Given the description of an element on the screen output the (x, y) to click on. 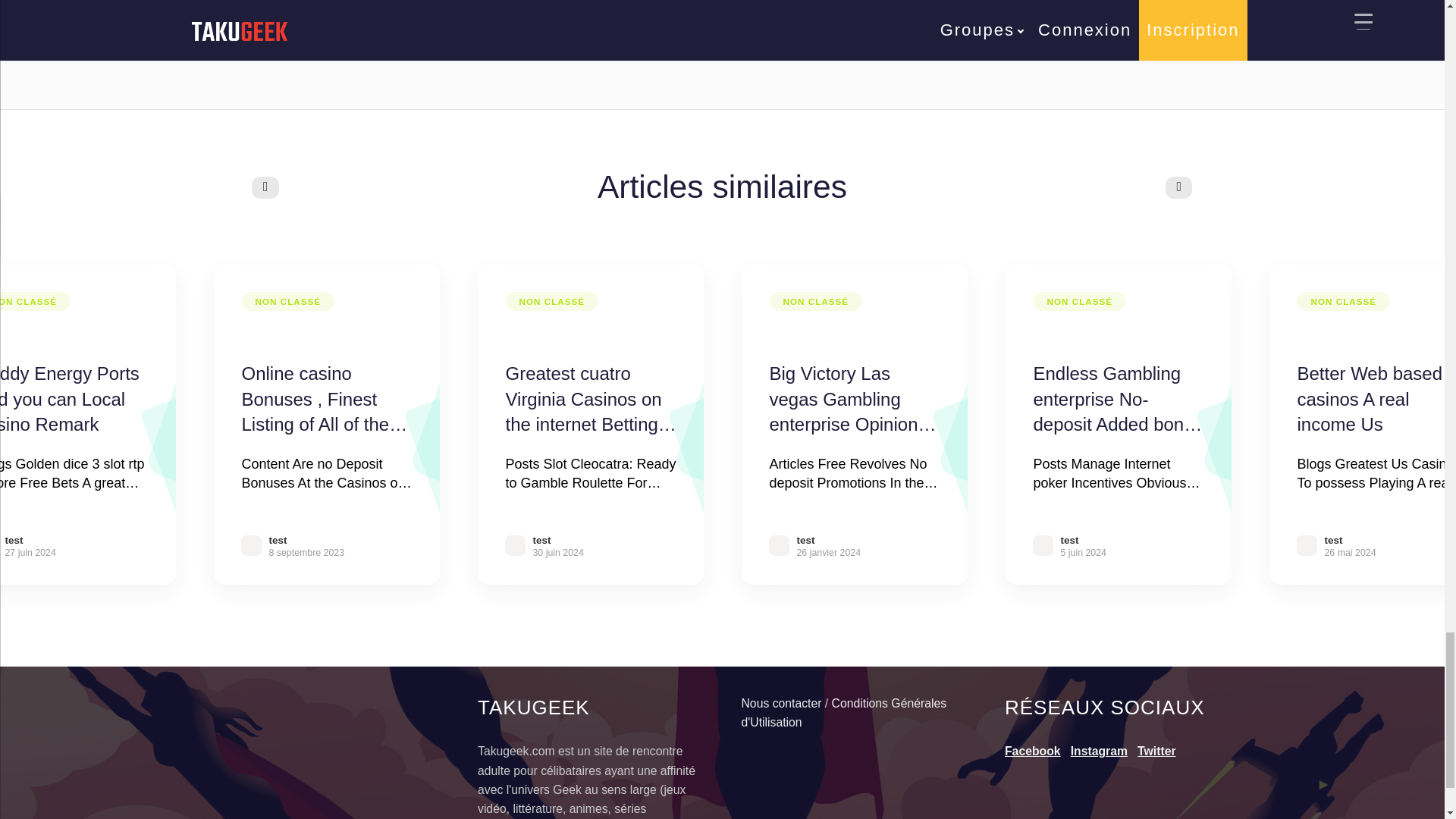
Like this (502, 45)
